Given the description of an element on the screen output the (x, y) to click on. 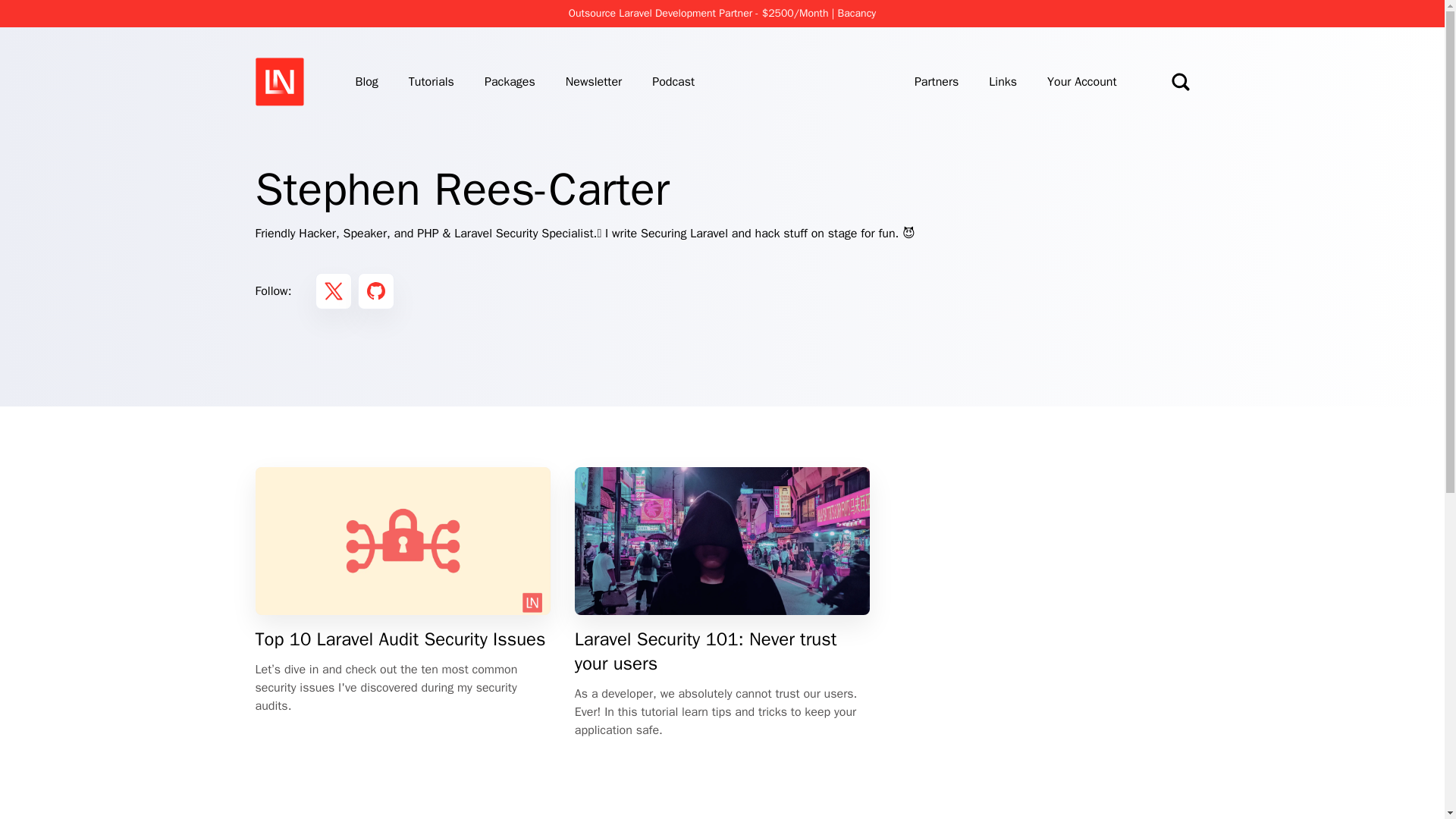
Securing Laravel (684, 233)
Packages (509, 81)
Blog (366, 81)
Search (1179, 81)
Your Account (1081, 81)
Read article (722, 602)
Podcast (673, 81)
Github (376, 290)
Newsletter (593, 81)
Partners (935, 81)
